Given the description of an element on the screen output the (x, y) to click on. 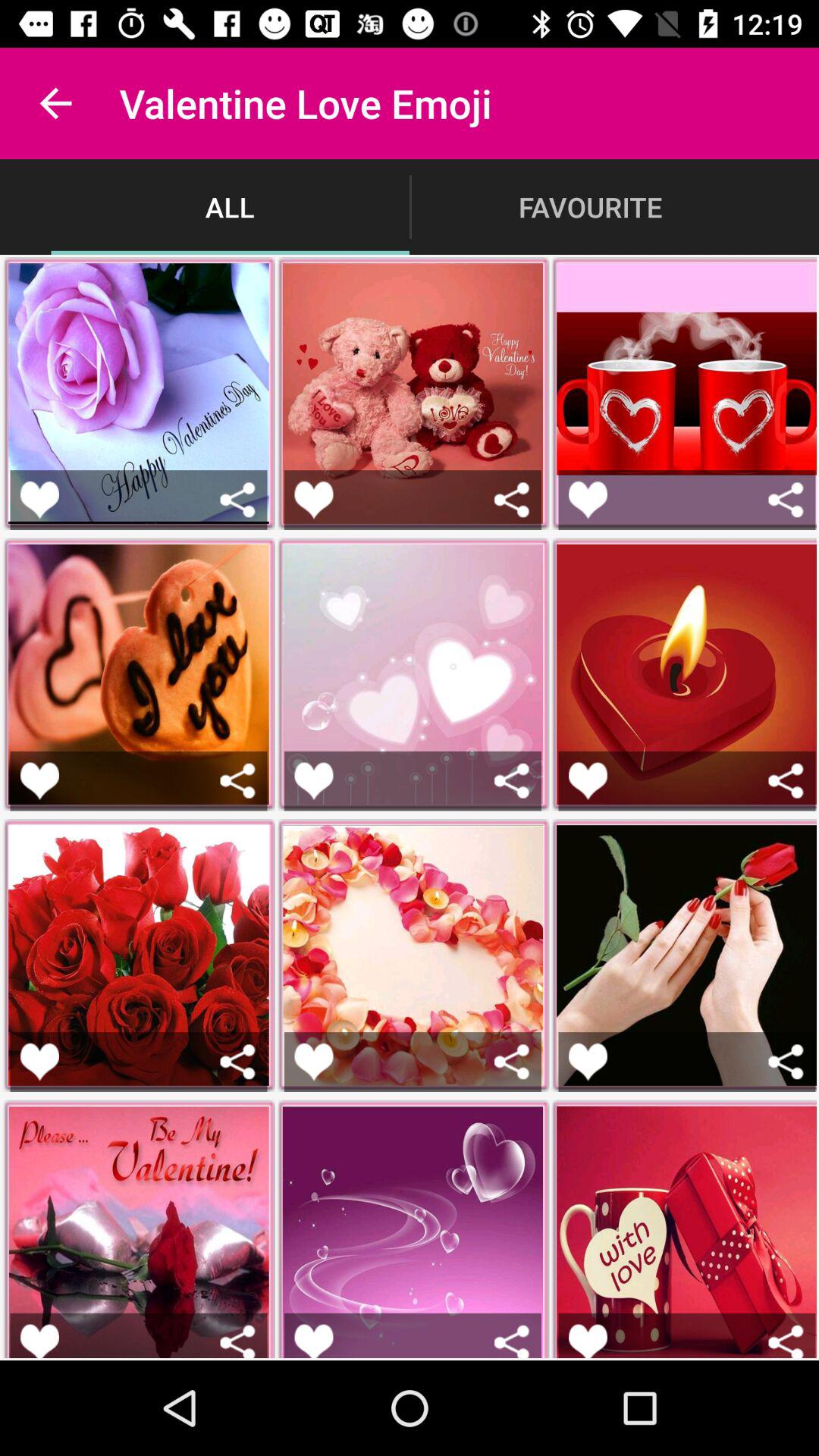
share picture (237, 499)
